Given the description of an element on the screen output the (x, y) to click on. 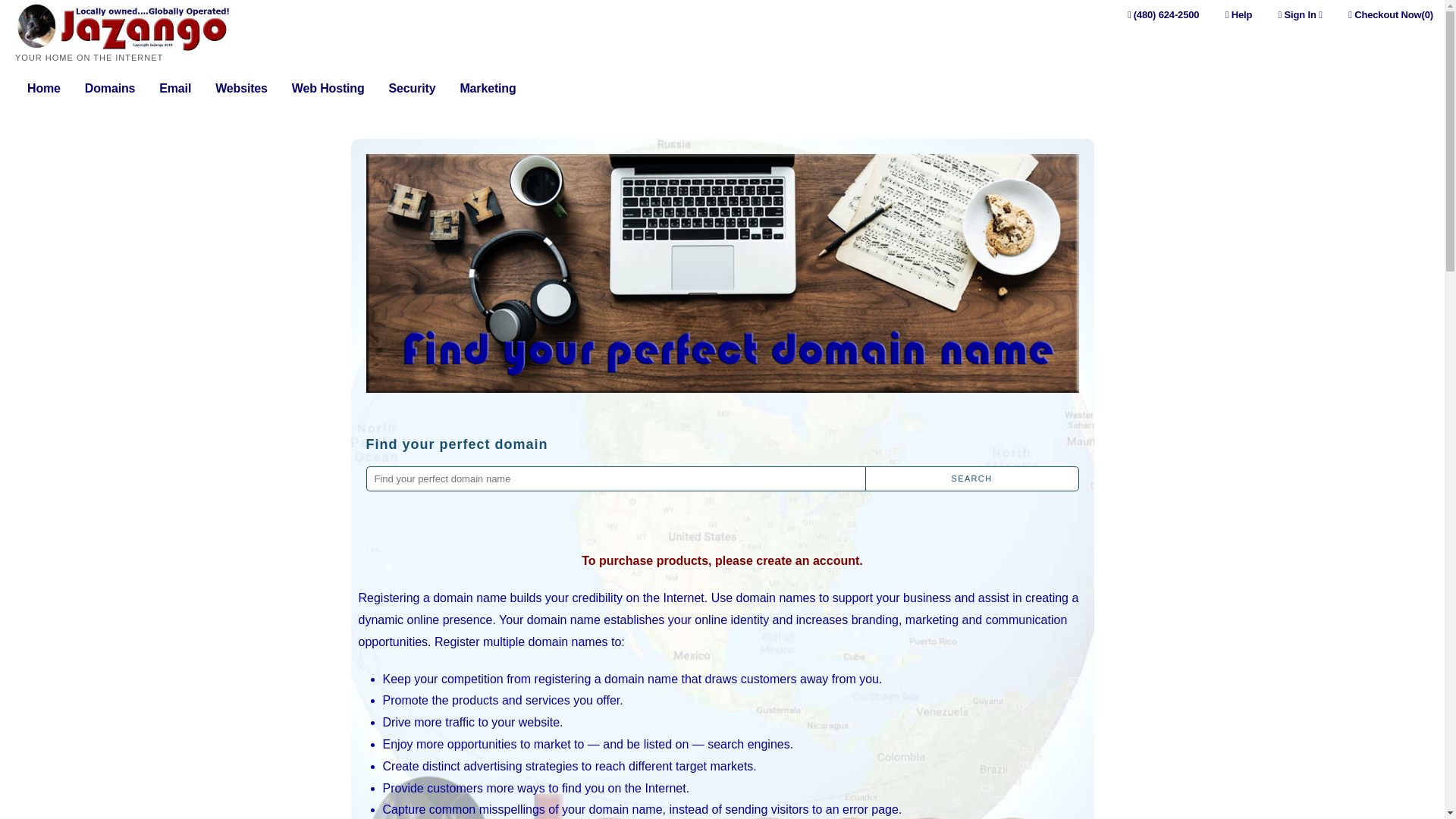
Websites (241, 89)
Email (174, 89)
Search (971, 478)
Sign In (1300, 14)
Home (44, 89)
Help (1238, 14)
Domains (109, 89)
Security (411, 89)
Web Hosting (328, 89)
Search (971, 478)
Marketing (487, 89)
